Given the description of an element on the screen output the (x, y) to click on. 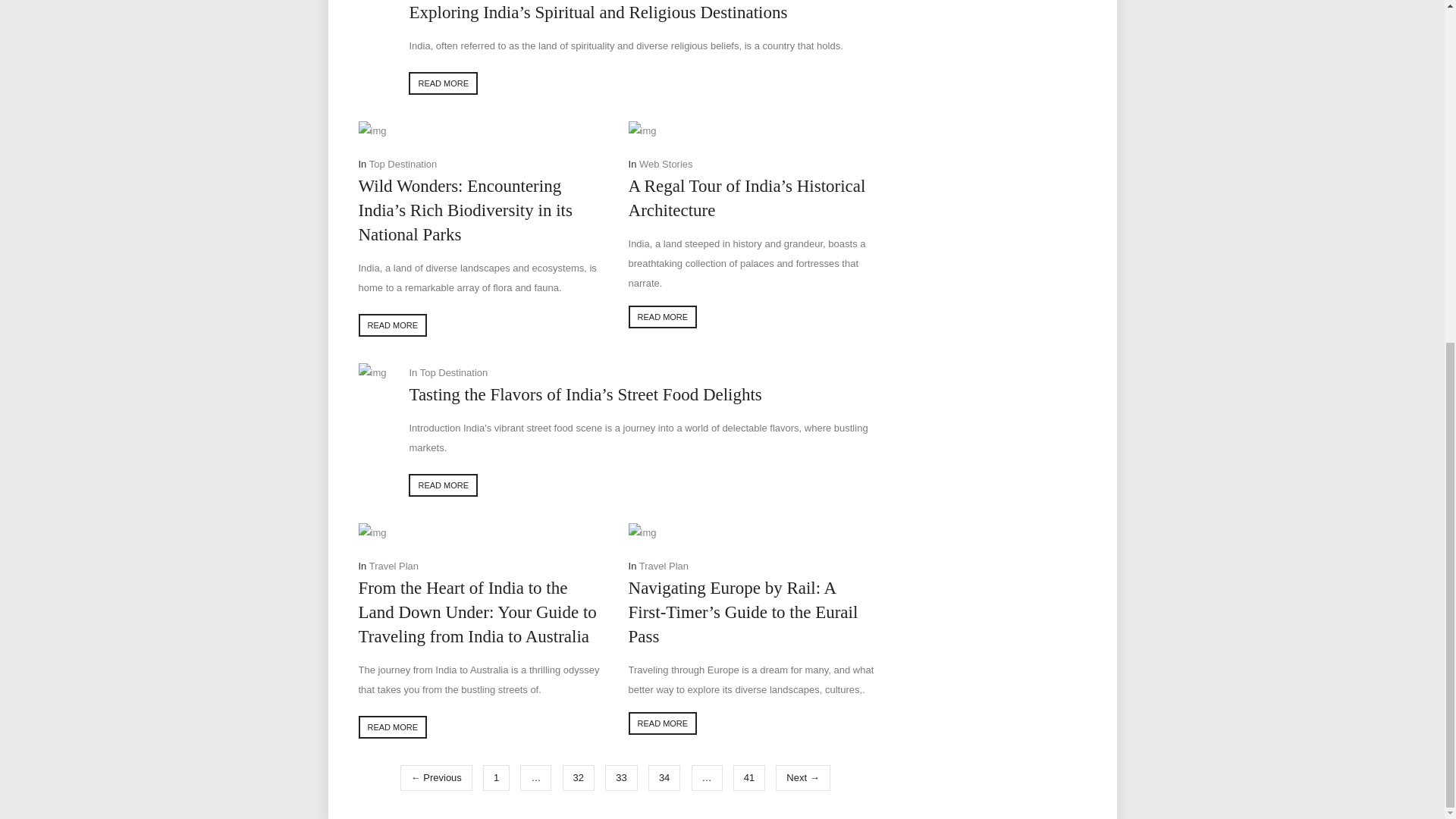
READ MORE (443, 83)
READ MORE (662, 316)
READ MORE (443, 485)
READ MORE (392, 324)
Web Stories (666, 163)
Top Destination (403, 163)
Top Destination (453, 372)
